Given the description of an element on the screen output the (x, y) to click on. 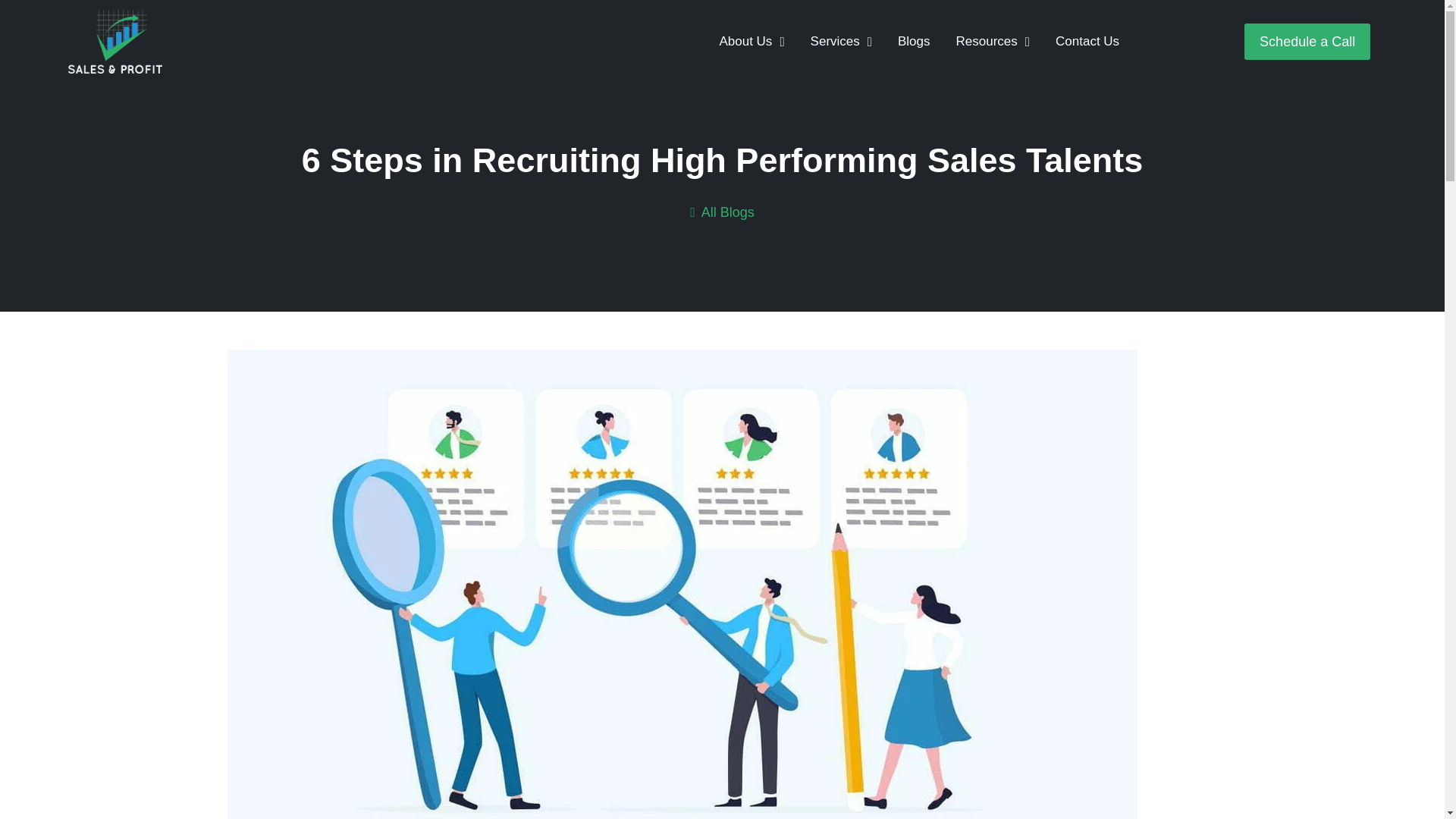
Blogs (914, 41)
Schedule a Call (1307, 41)
Services (841, 41)
About Us (751, 41)
Resources (992, 41)
Contact Us (1087, 41)
